Given the description of an element on the screen output the (x, y) to click on. 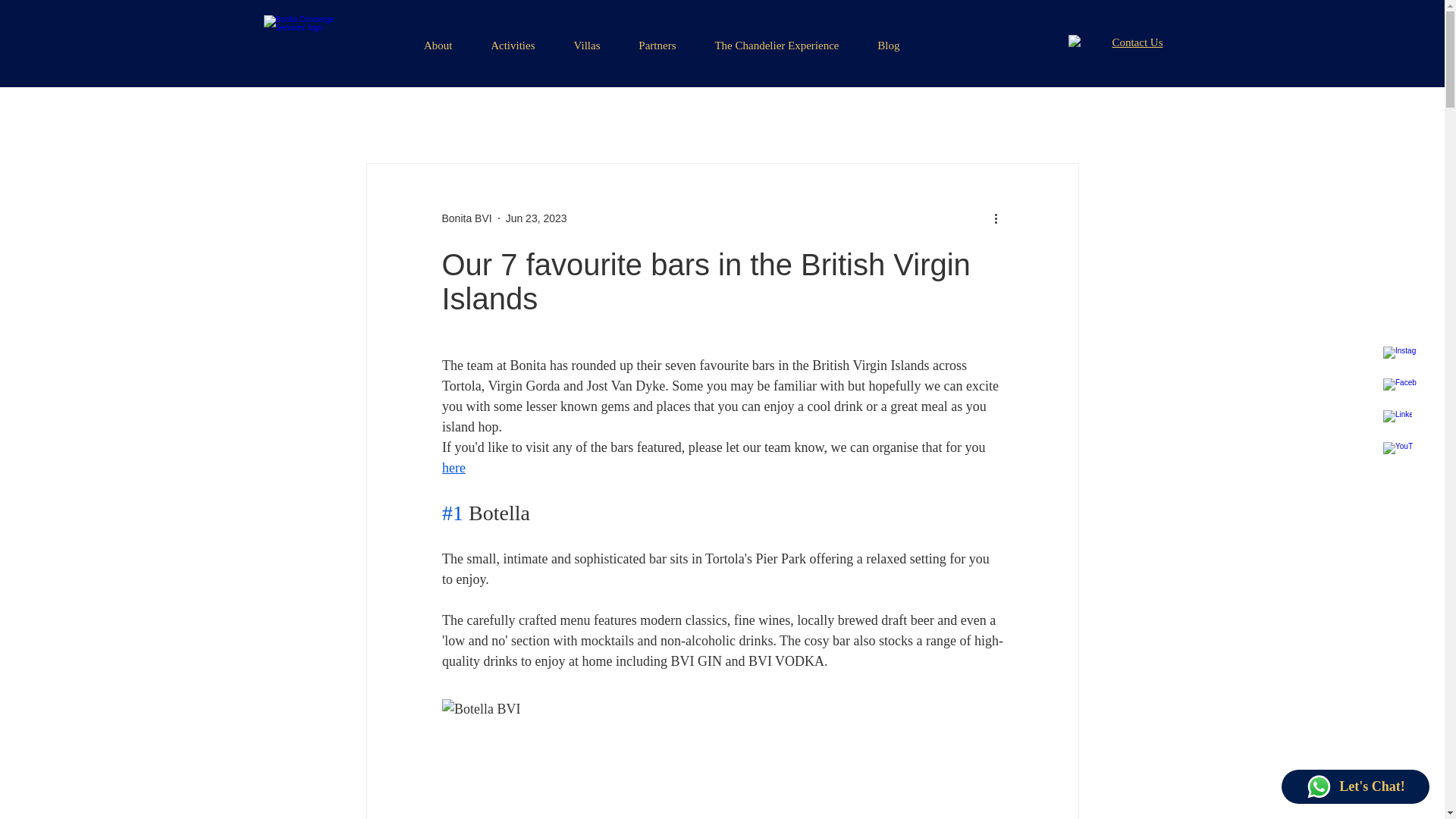
Villas (578, 43)
The Chandelier Experience (768, 43)
About (430, 43)
Jun 23, 2023 (536, 218)
Let's Chat! (1355, 786)
Partners (649, 43)
Bonita BVI (466, 218)
here (452, 467)
Blog (880, 43)
Contact Us (1136, 42)
Bonita BVI (466, 218)
Activities (505, 43)
